Given the description of an element on the screen output the (x, y) to click on. 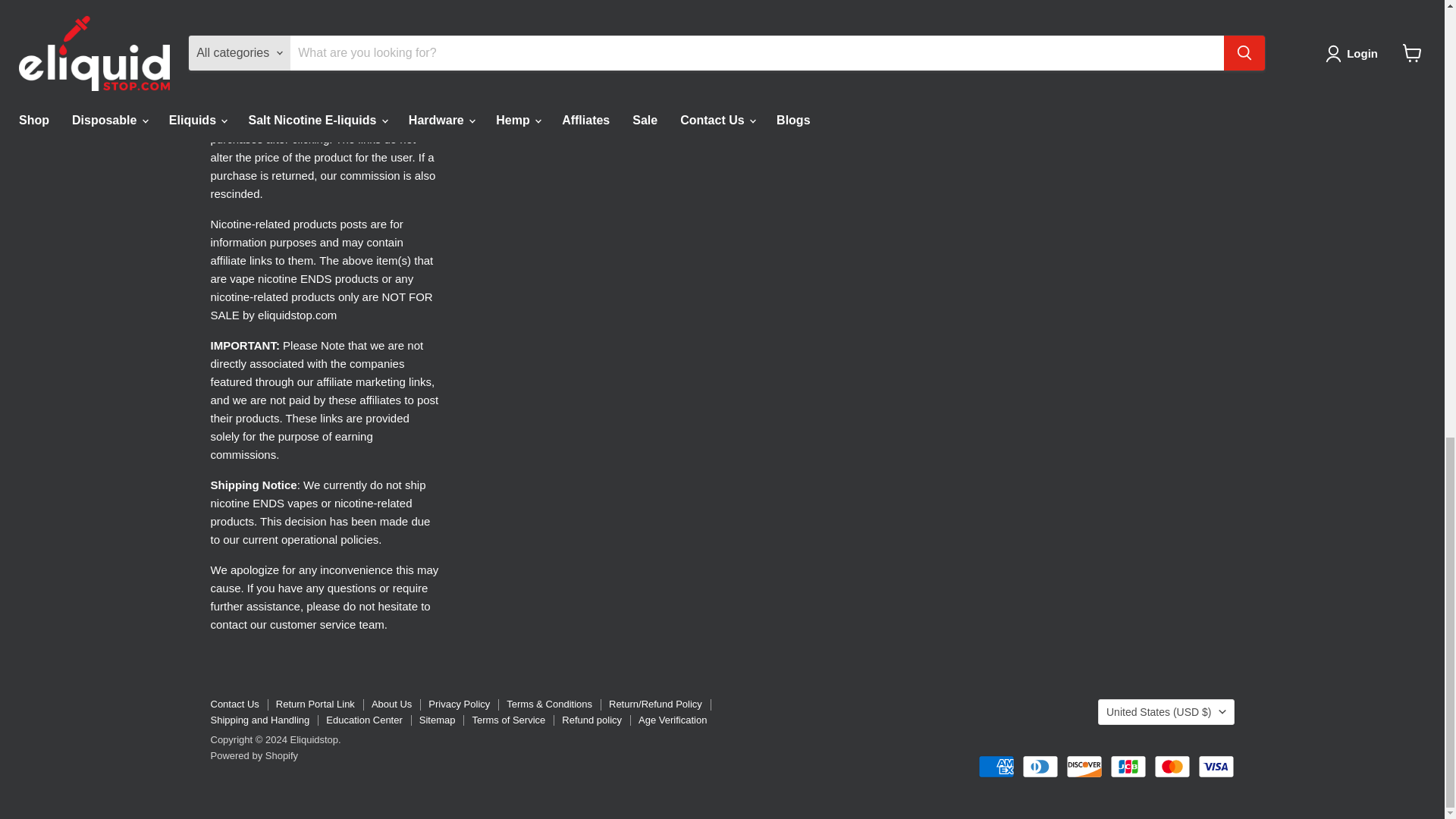
Diners Club (1040, 766)
Discover (1083, 766)
Mastercard (1172, 766)
American Express (996, 766)
JCB (1128, 766)
